Given the description of an element on the screen output the (x, y) to click on. 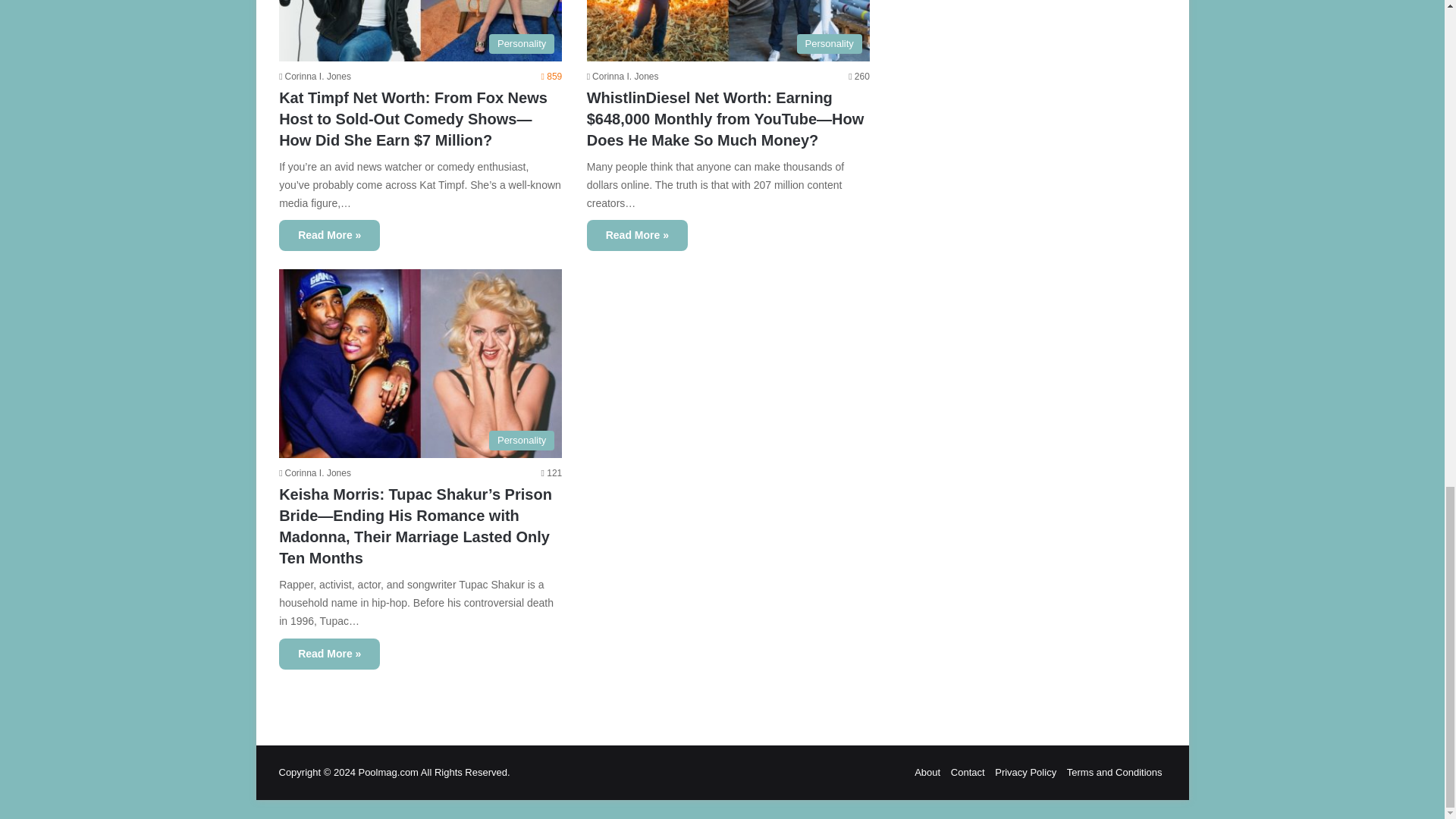
Corinna I. Jones (622, 76)
Personality (727, 30)
Corinna I. Jones (622, 76)
Corinna I. Jones (314, 472)
Corinna I. Jones (314, 76)
Corinna I. Jones (314, 76)
Personality (420, 363)
Personality (420, 30)
Corinna I. Jones (314, 472)
